Given the description of an element on the screen output the (x, y) to click on. 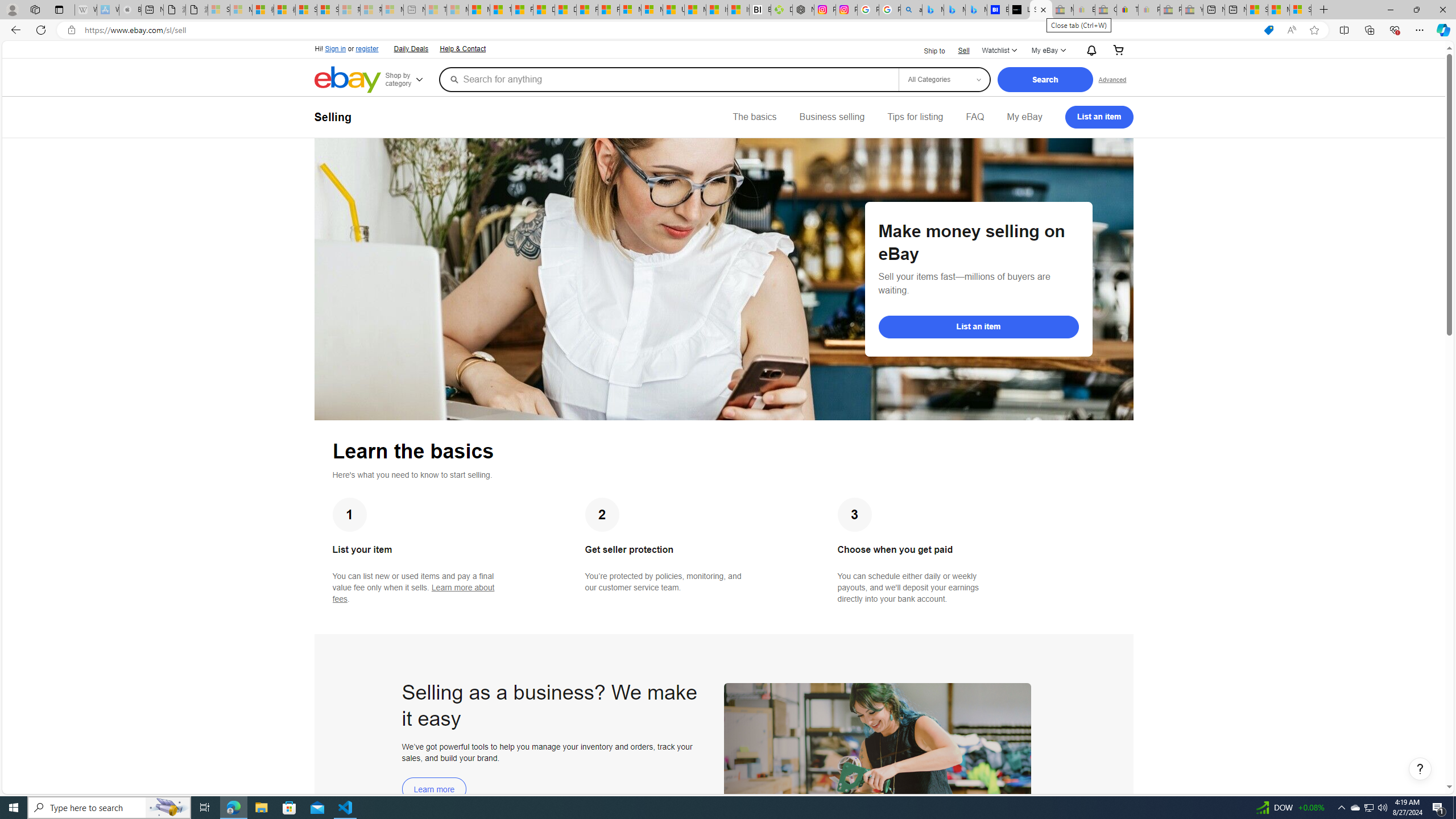
Expand Cart (1118, 50)
Selling on eBay | Electronics, Fashion, Home & Garden | eBay (1041, 9)
Tips for listing (914, 116)
Help & Contact (461, 48)
Search for anything (667, 78)
WatchlistExpand Watch List (998, 50)
Yard, Garden & Outdoor Living - Sleeping (1192, 9)
Business selling (831, 116)
